Given the description of an element on the screen output the (x, y) to click on. 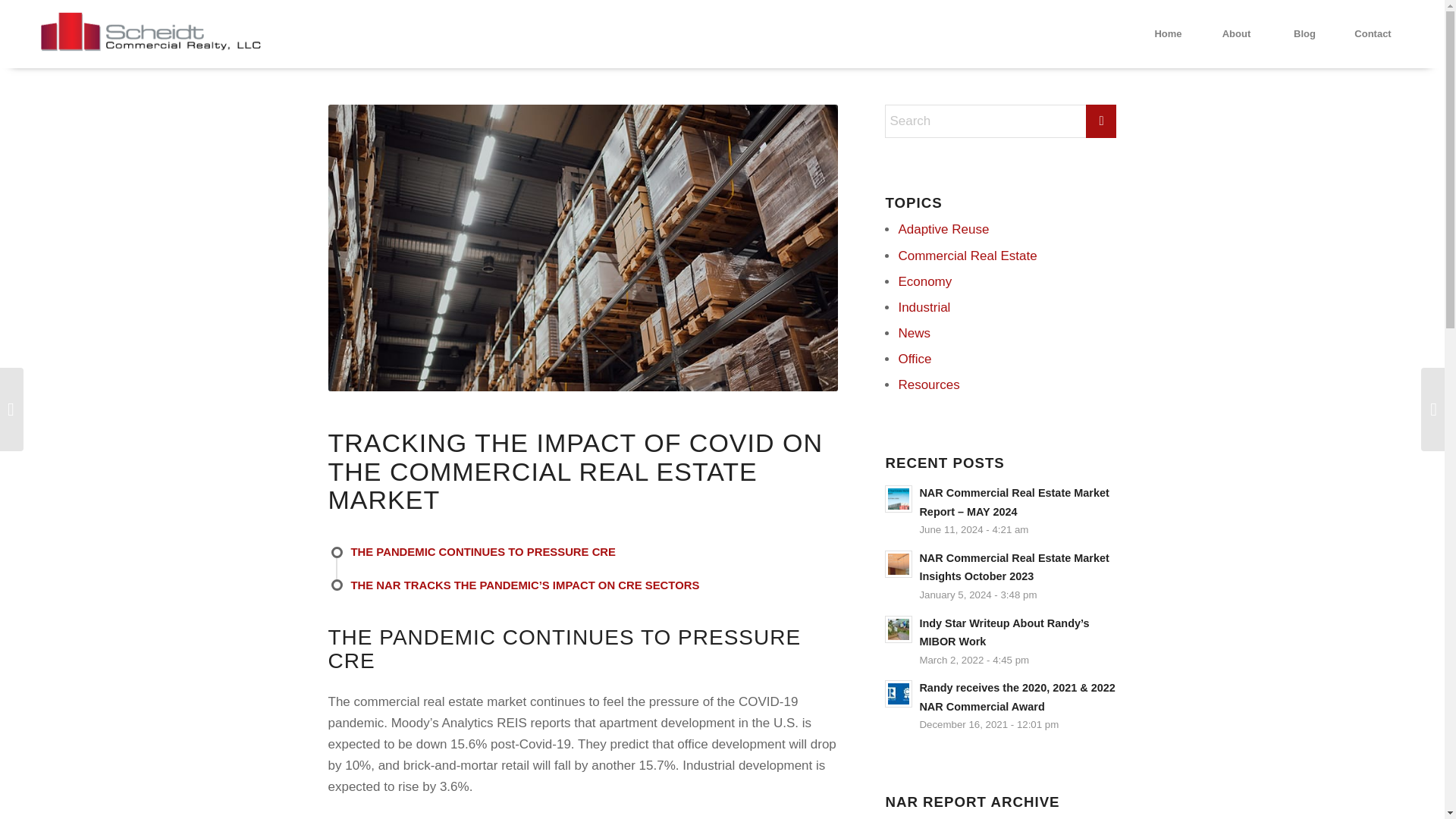
About (1235, 33)
Click to start search (1101, 121)
Adaptive Reuse (943, 228)
Office (914, 359)
THE PANDEMIC CONTINUES TO PRESSURE CRE (594, 560)
Home (1168, 33)
NAR Commercial Real Estate Market Insights October 2023 (1013, 567)
Economy (925, 281)
Contact (1372, 33)
Industrial (924, 307)
Commercial Real Estate (967, 255)
News (914, 332)
Resources (928, 384)
